Given the description of an element on the screen output the (x, y) to click on. 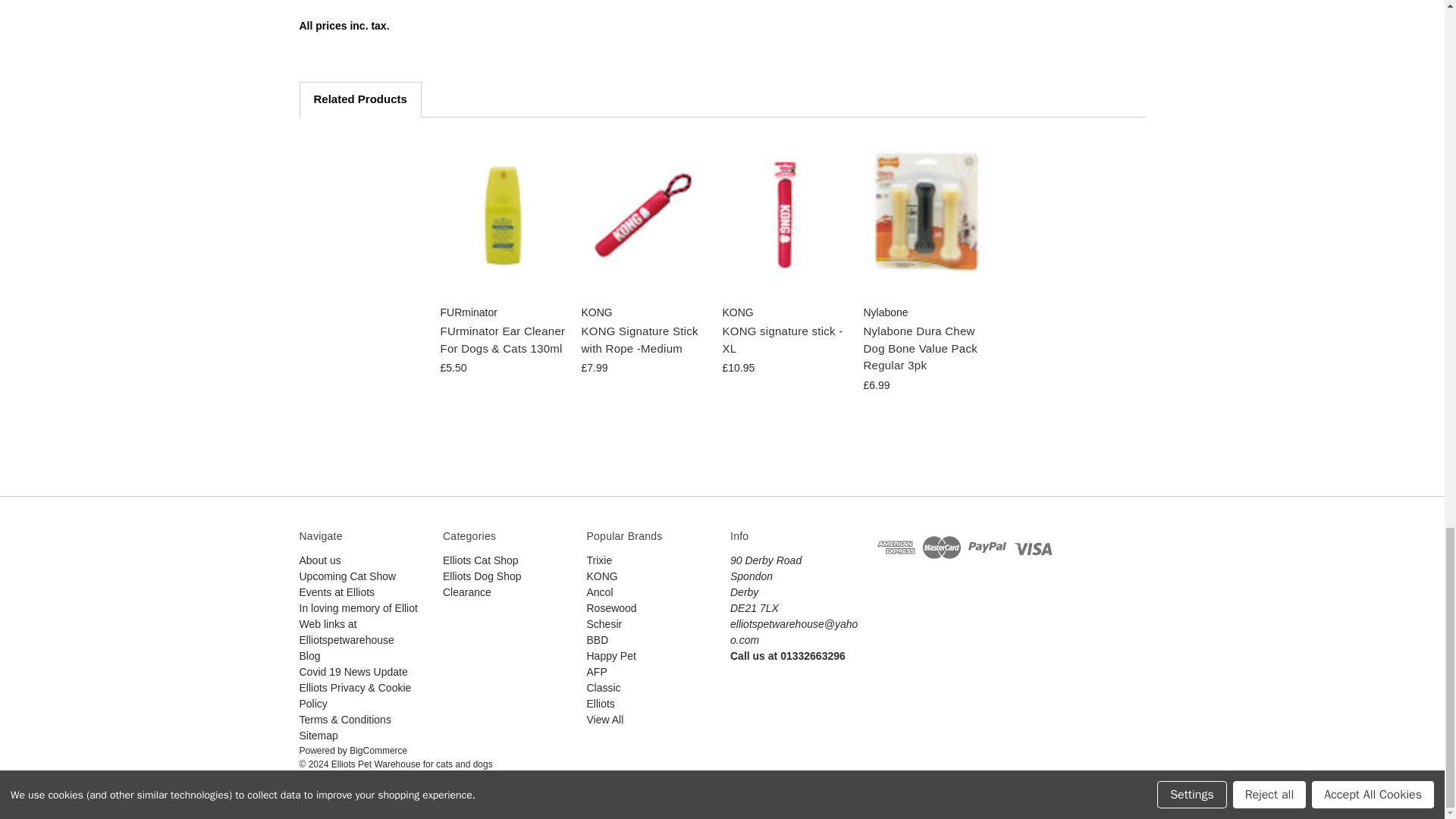
Mastercard (941, 547)
Visa (1032, 547)
PayPal (987, 547)
American Express (896, 547)
